Given the description of an element on the screen output the (x, y) to click on. 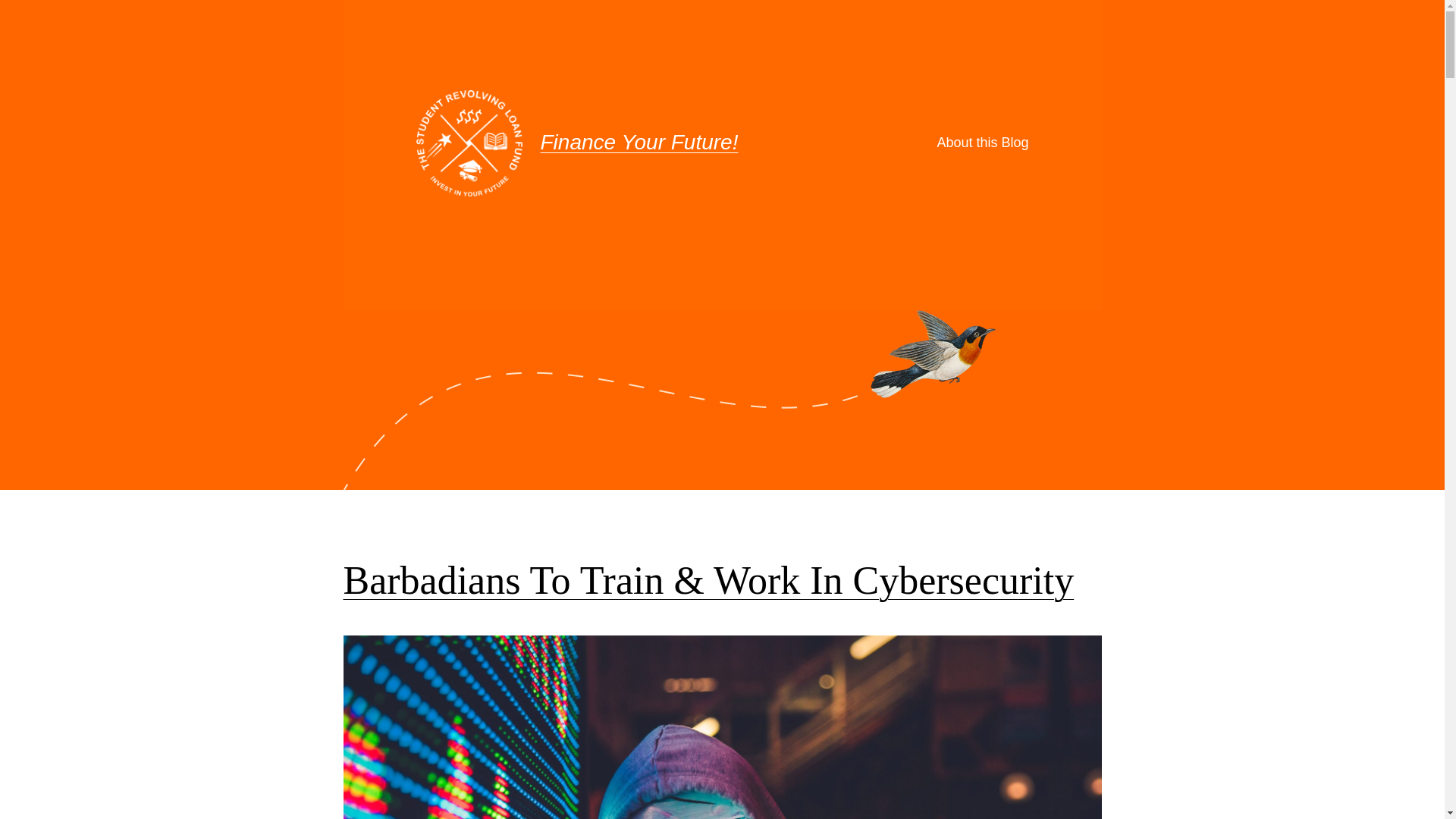
About this Blog Element type: text (982, 142)
Finance Your Future! Element type: text (638, 141)
Barbadians To Train & Work In Cybersecurity Element type: text (707, 580)
